Given the description of an element on the screen output the (x, y) to click on. 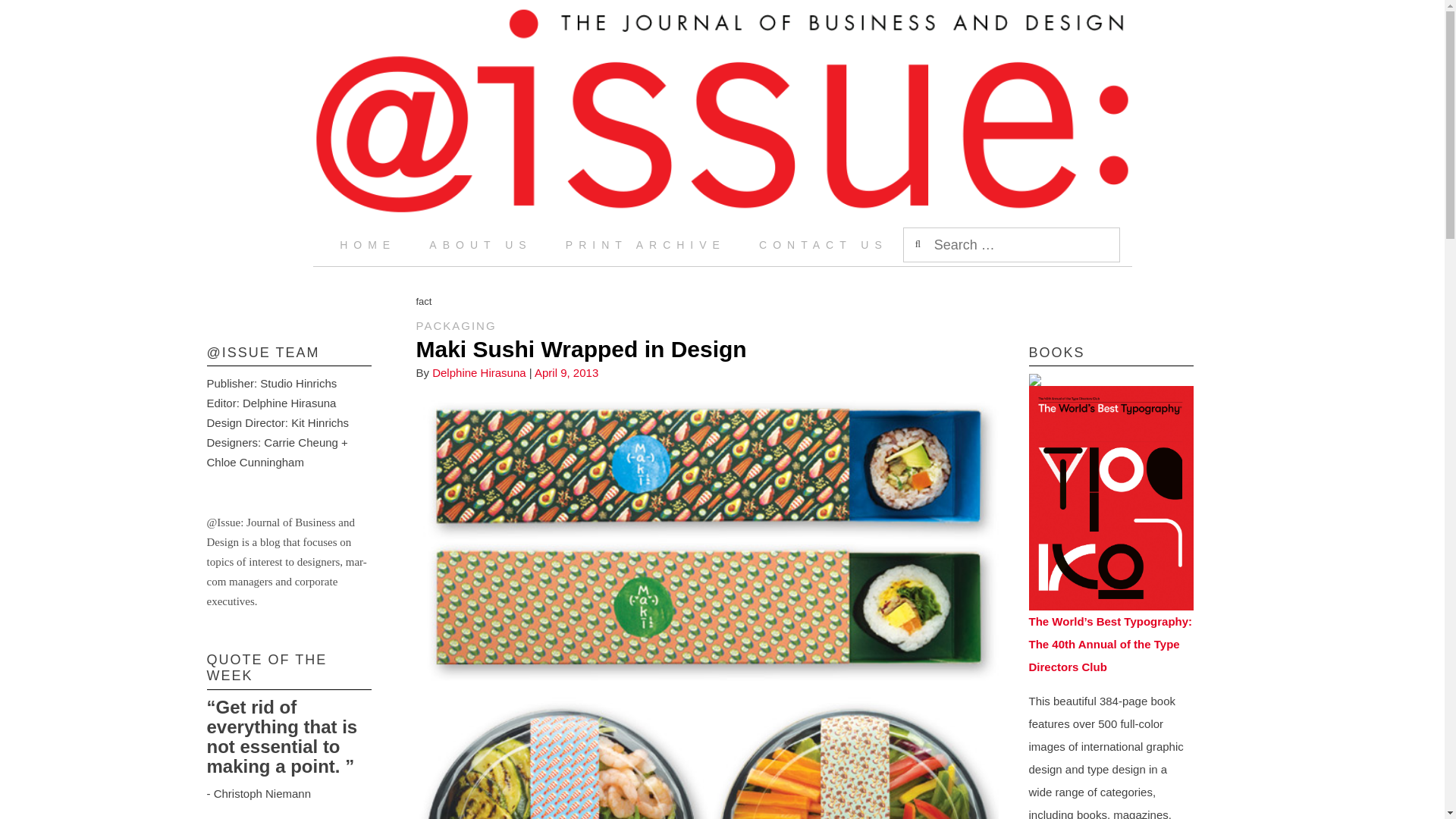
Search (28, 15)
CONTACT US (823, 244)
HOME (367, 244)
PRINT ARCHIVE (645, 244)
ABOUT US (480, 244)
